Given the description of an element on the screen output the (x, y) to click on. 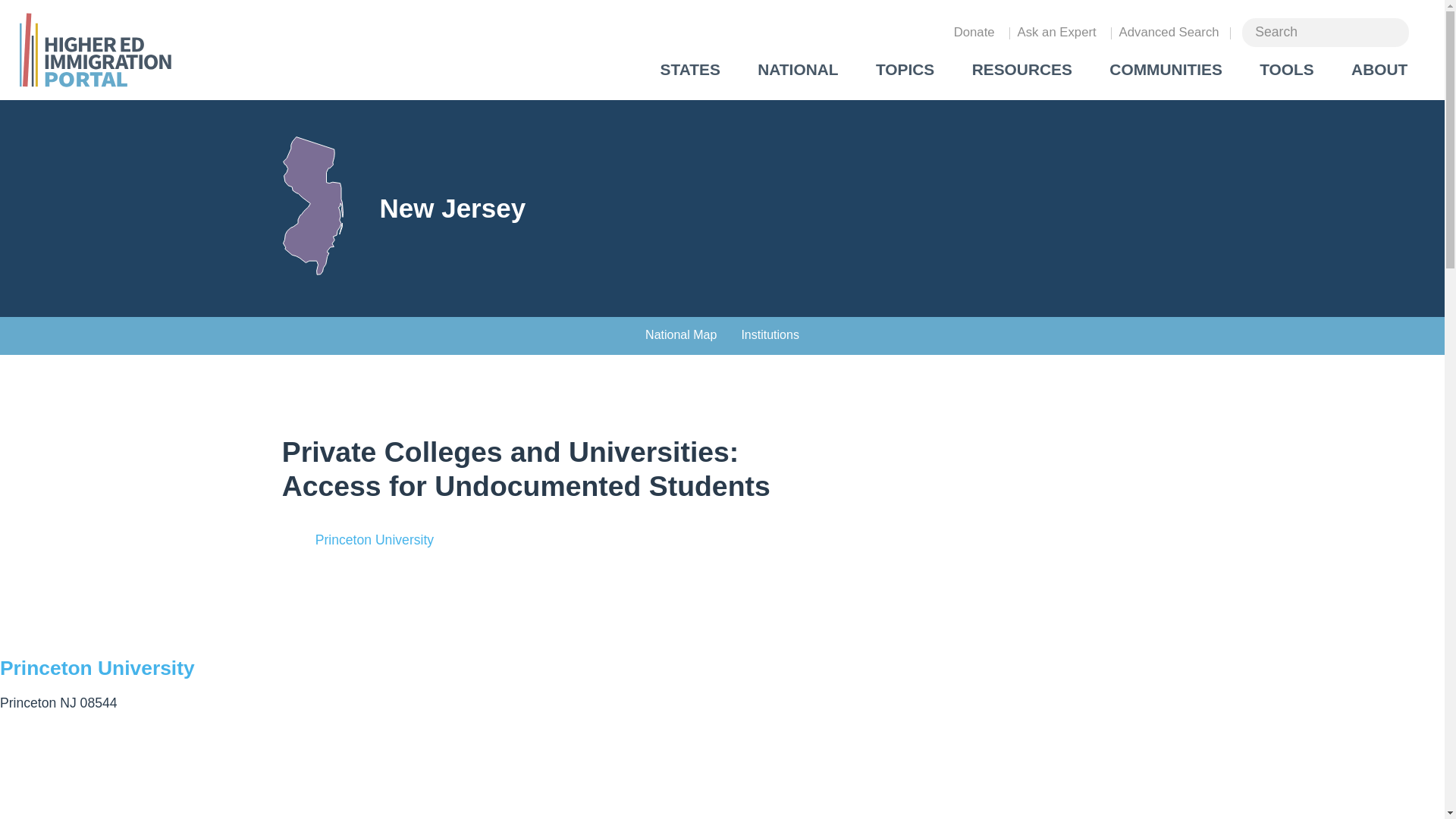
Donate (973, 32)
COMMUNITIES (1166, 69)
Search for: (1325, 32)
STATES (689, 69)
Advanced Search (1168, 32)
TOOLS (1286, 69)
NATIONAL (798, 69)
Ask an Expert (1056, 32)
ABOUT (1380, 69)
RESOURCES (1022, 69)
TOPICS (905, 69)
